Given the description of an element on the screen output the (x, y) to click on. 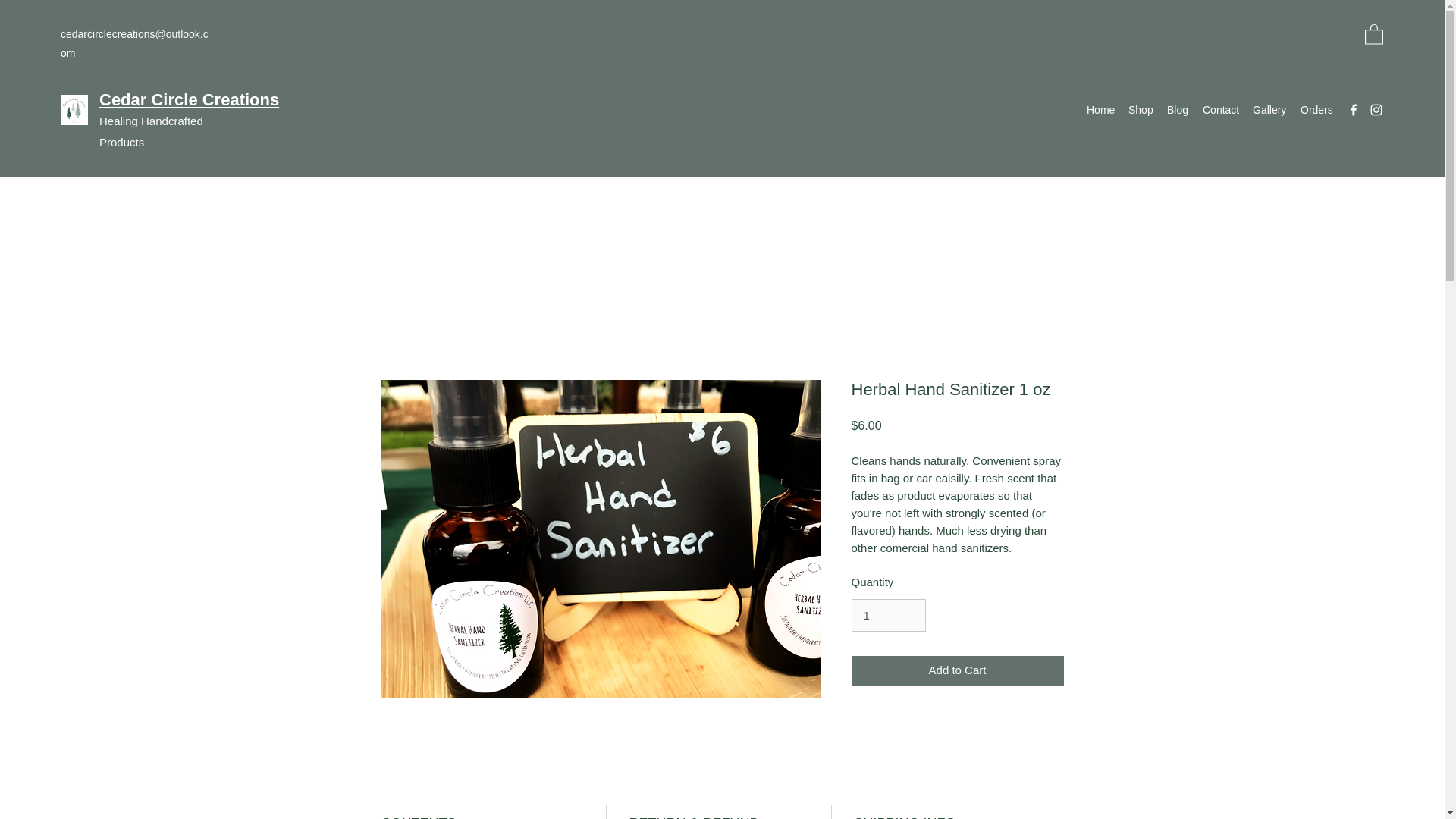
Orders (1315, 109)
Blog (1176, 109)
Shop (1139, 109)
Add to Cart (956, 670)
1 (887, 615)
Gallery (1268, 109)
Cedar Circle Creations (189, 99)
Home (1099, 109)
Contact (1219, 109)
